Given the description of an element on the screen output the (x, y) to click on. 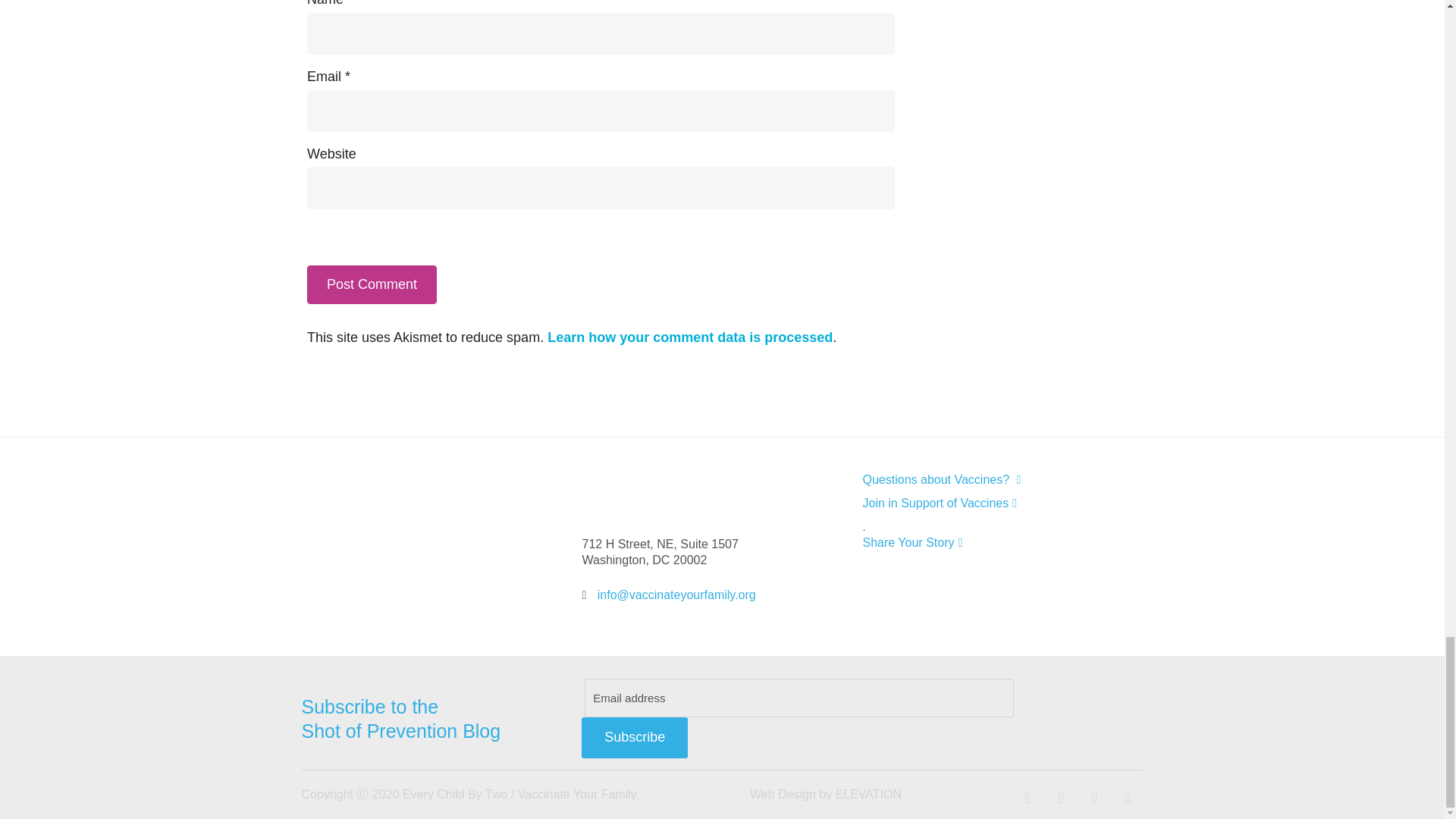
Subscribe (633, 737)
Post Comment (371, 284)
Post Comment (371, 284)
Website design for nonprofits (782, 793)
Questions about Vaccines? (992, 479)
Join in Support of Vaccines (992, 503)
Learn how your comment data is processed (689, 337)
Share Your Story (992, 542)
Elevation Web (868, 793)
